Given the description of an element on the screen output the (x, y) to click on. 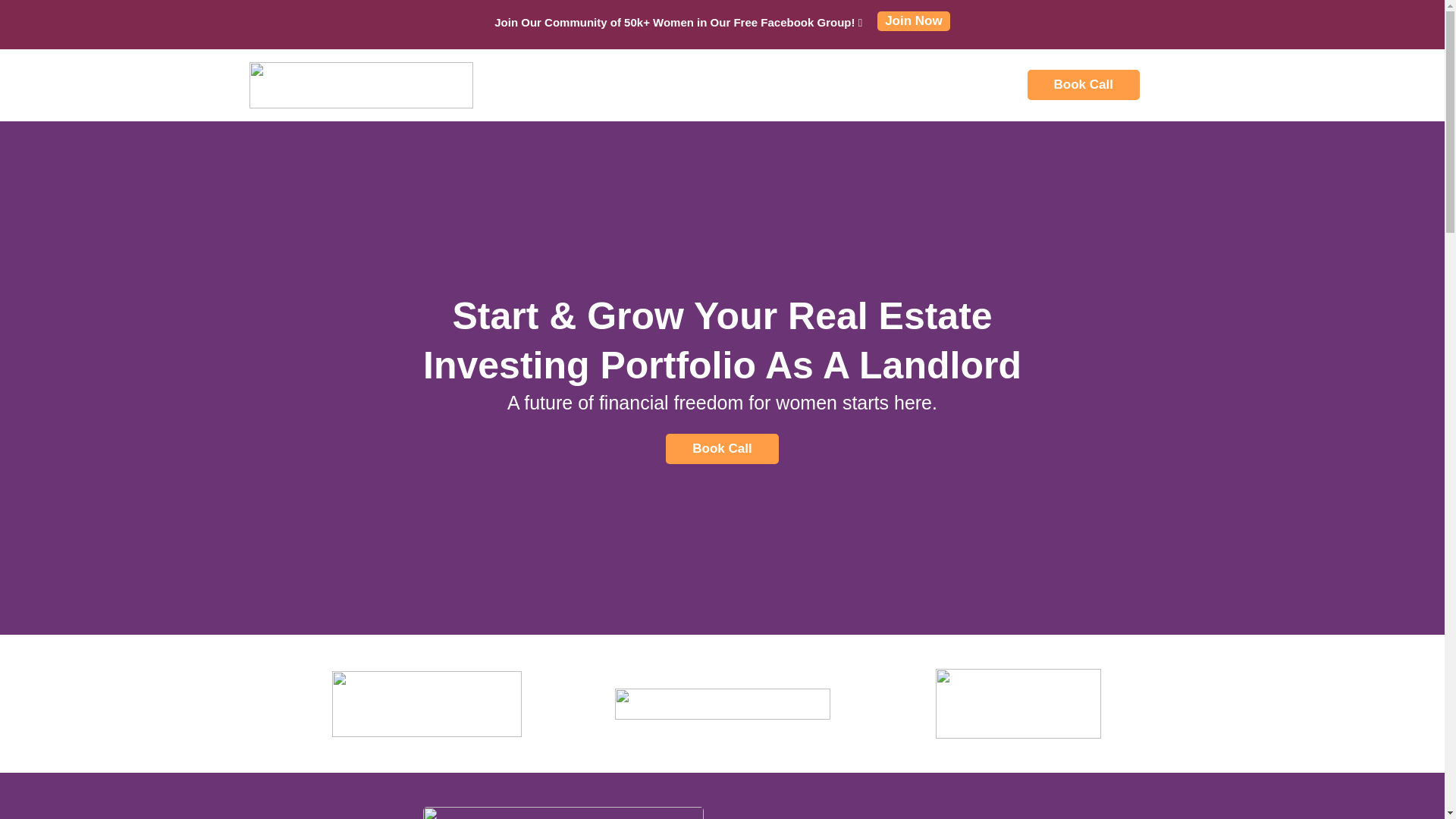
Join Now (913, 21)
Book Call (1083, 84)
Book Call (721, 449)
